Given the description of an element on the screen output the (x, y) to click on. 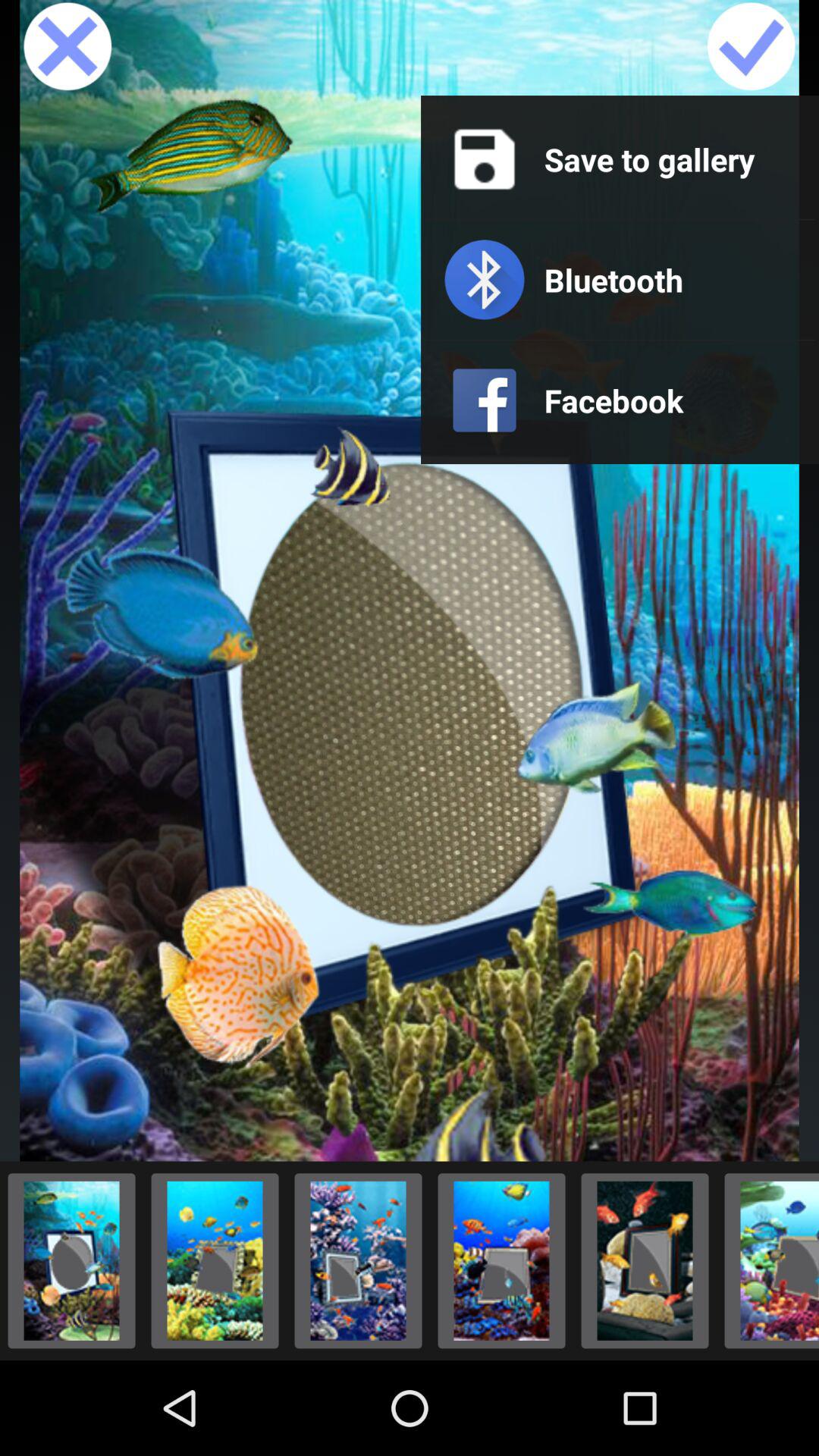
enlarge image (501, 1260)
